Given the description of an element on the screen output the (x, y) to click on. 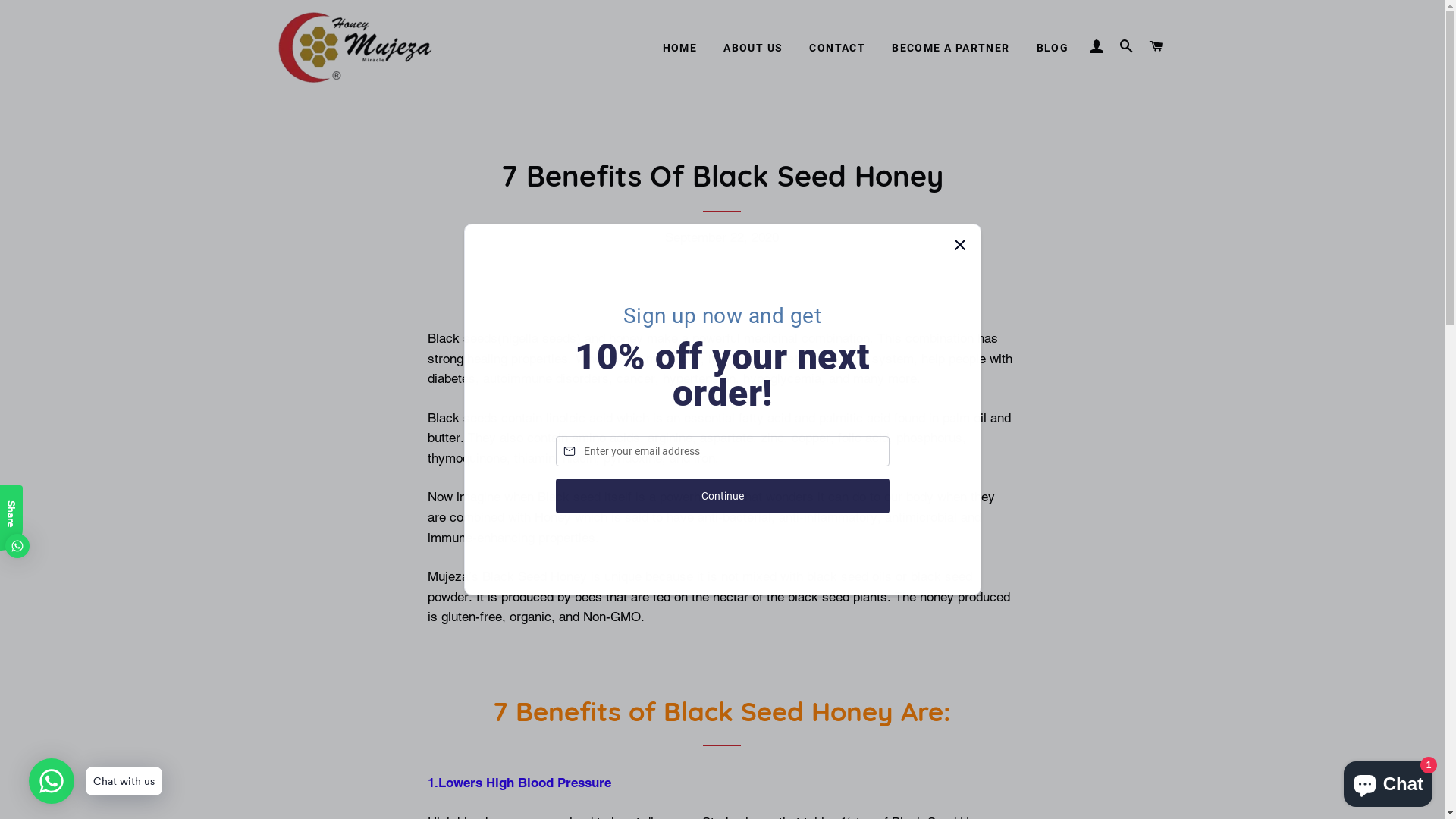
SEARCH Element type: text (1126, 47)
CART Element type: text (1156, 47)
LOG IN Element type: text (1096, 47)
BLOG Element type: text (1052, 48)
ABOUT US Element type: text (752, 48)
CONTACT Element type: text (836, 48)
BECOME A PARTNER Element type: text (950, 48)
Shopify online store chat Element type: hover (1388, 780)
HOME Element type: text (680, 48)
